Given the description of an element on the screen output the (x, y) to click on. 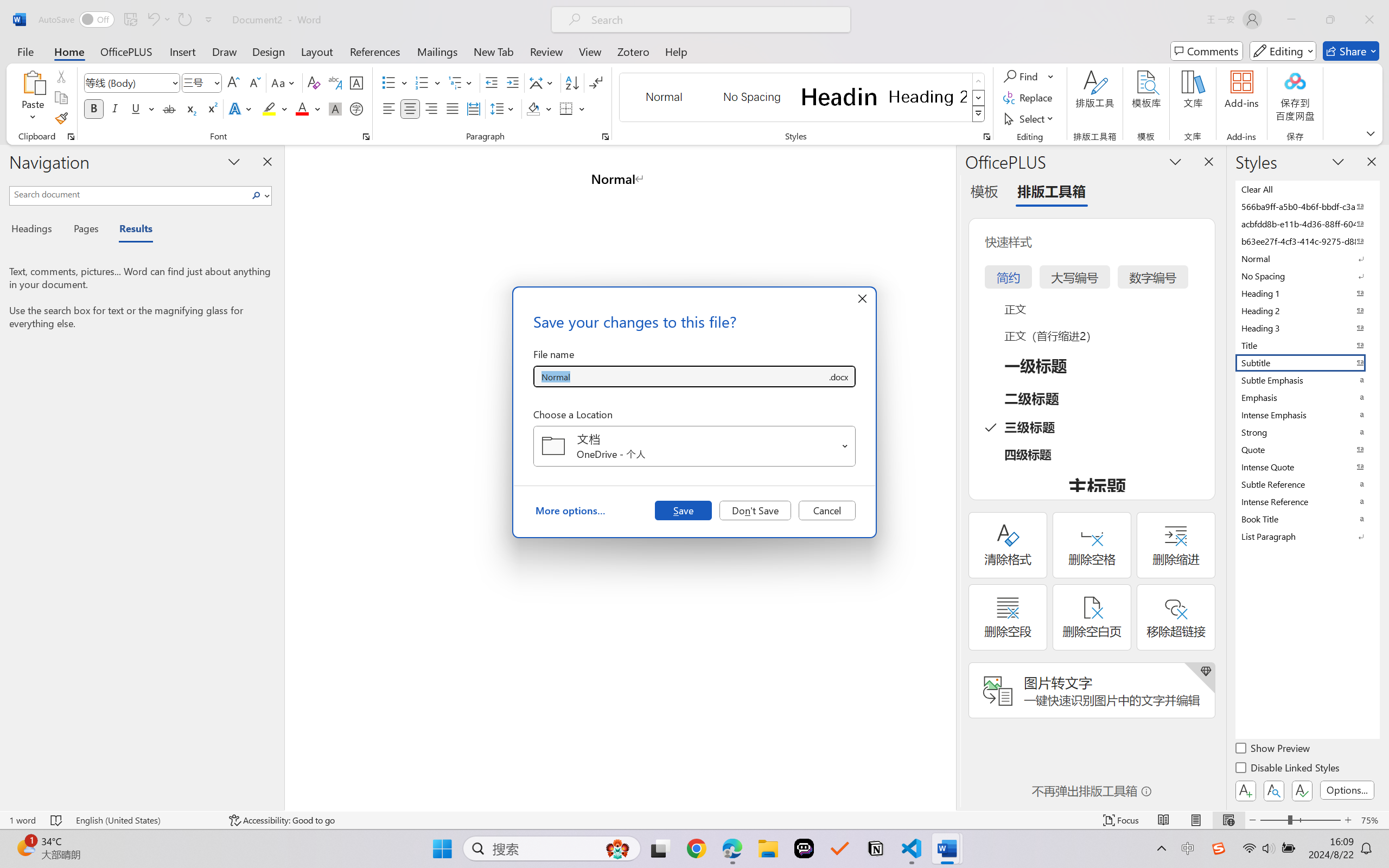
Strikethrough (169, 108)
Decrease Indent (491, 82)
Align Right (431, 108)
Shading (539, 108)
Web Layout (1228, 819)
Center (409, 108)
Print Layout (1196, 819)
Subtitle (1306, 362)
Restore Down (1330, 19)
